Given the description of an element on the screen output the (x, y) to click on. 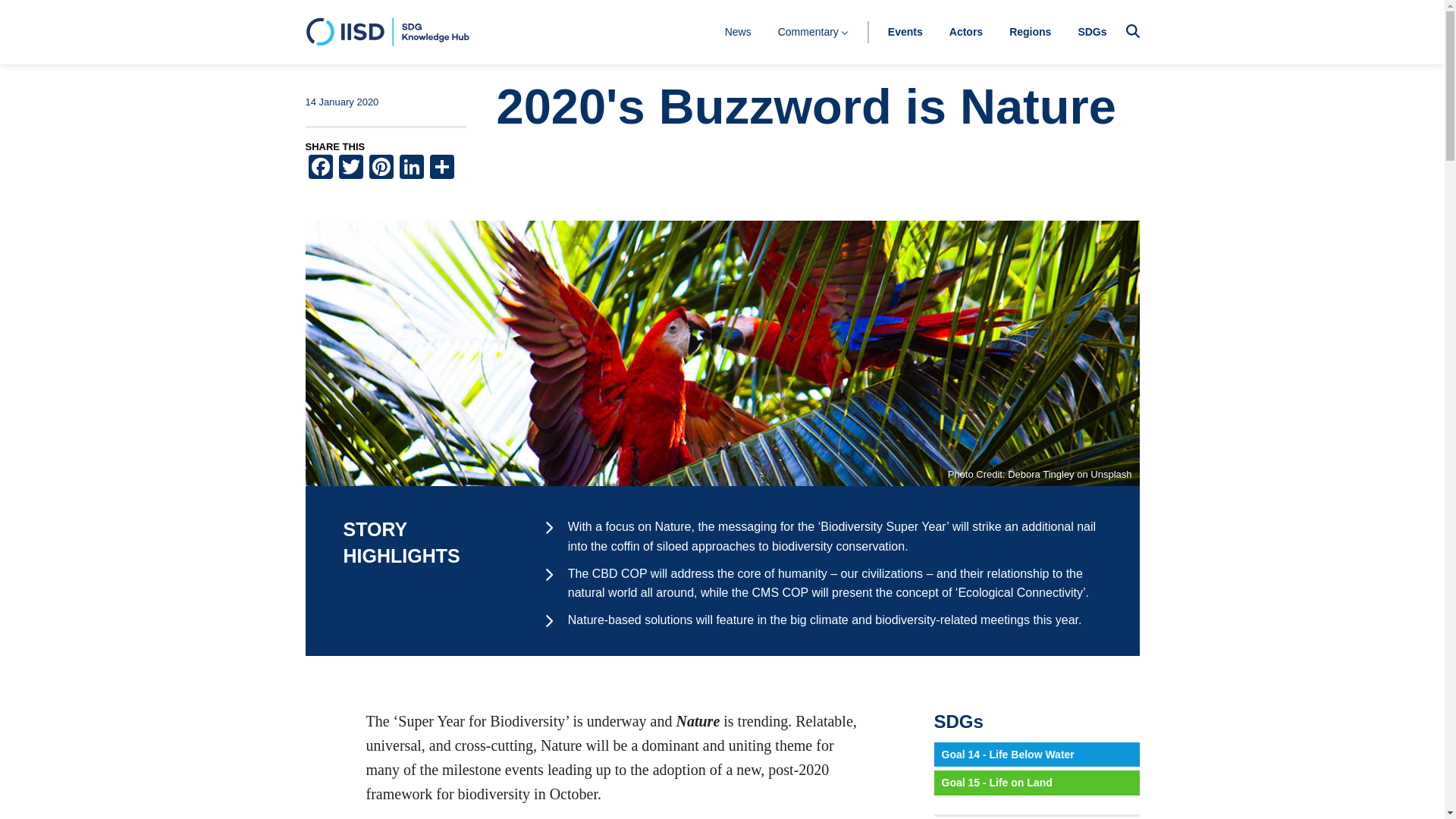
Actors (965, 31)
Pinterest (380, 168)
SDGs (1091, 31)
Twitter (349, 168)
Regions (1030, 31)
Facebook (319, 168)
LinkedIn (411, 168)
Facebook (319, 168)
Twitter (349, 168)
News (738, 31)
